Given the description of an element on the screen output the (x, y) to click on. 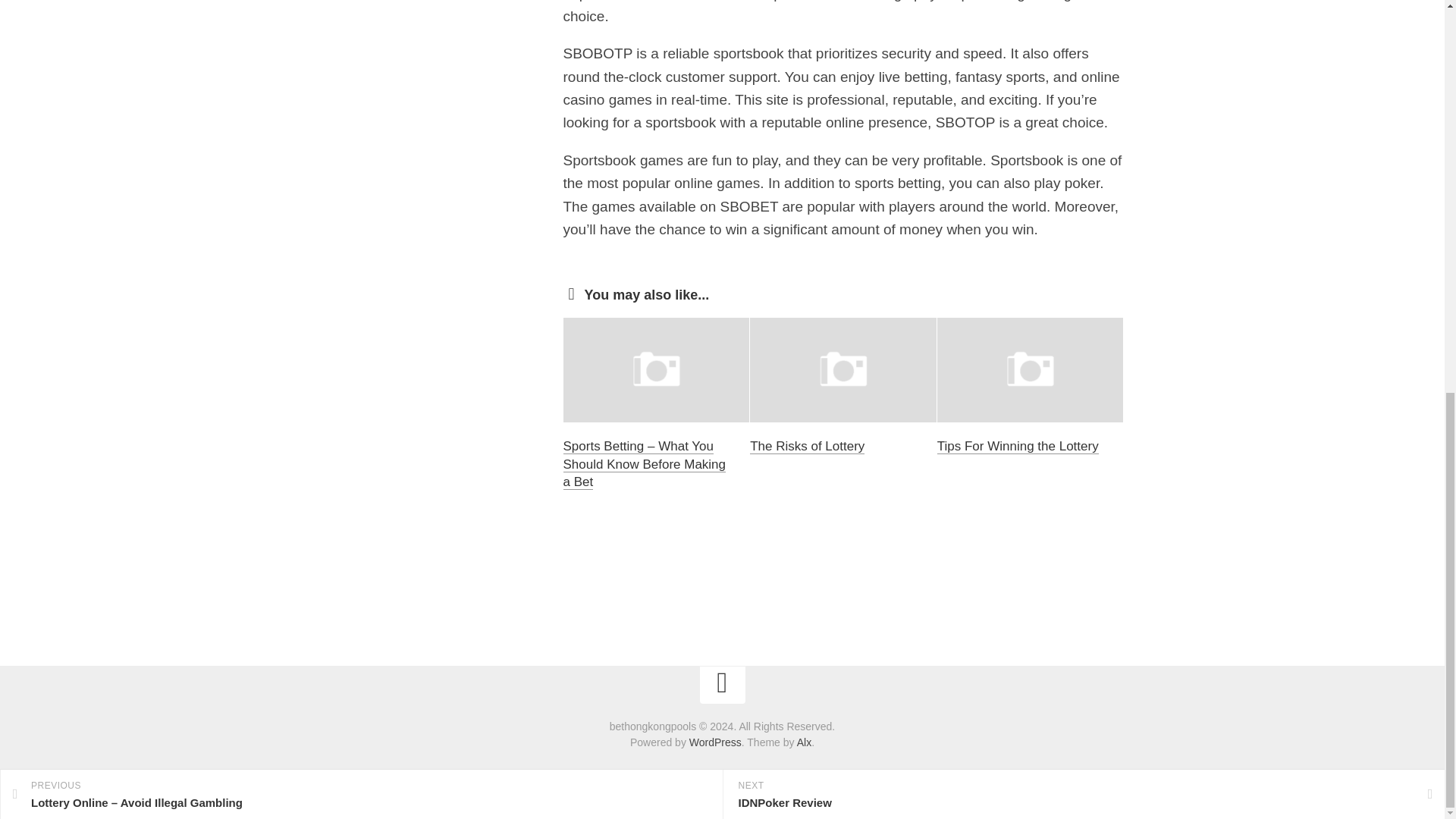
The Risks of Lottery (806, 445)
WordPress (714, 742)
Tips For Winning the Lottery (1018, 445)
Alx (803, 742)
